Given the description of an element on the screen output the (x, y) to click on. 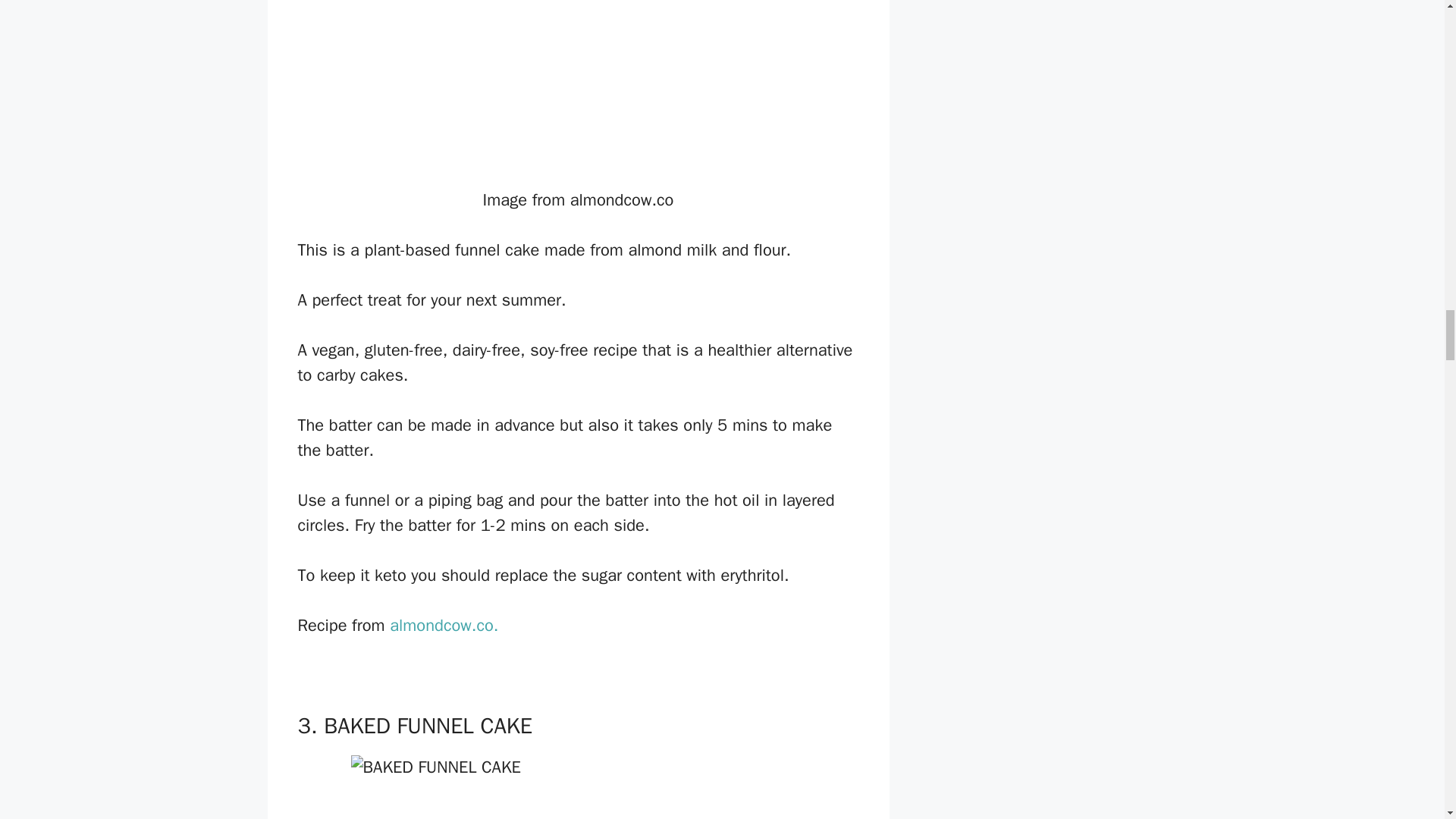
almondcow.co. (443, 625)
